Given the description of an element on the screen output the (x, y) to click on. 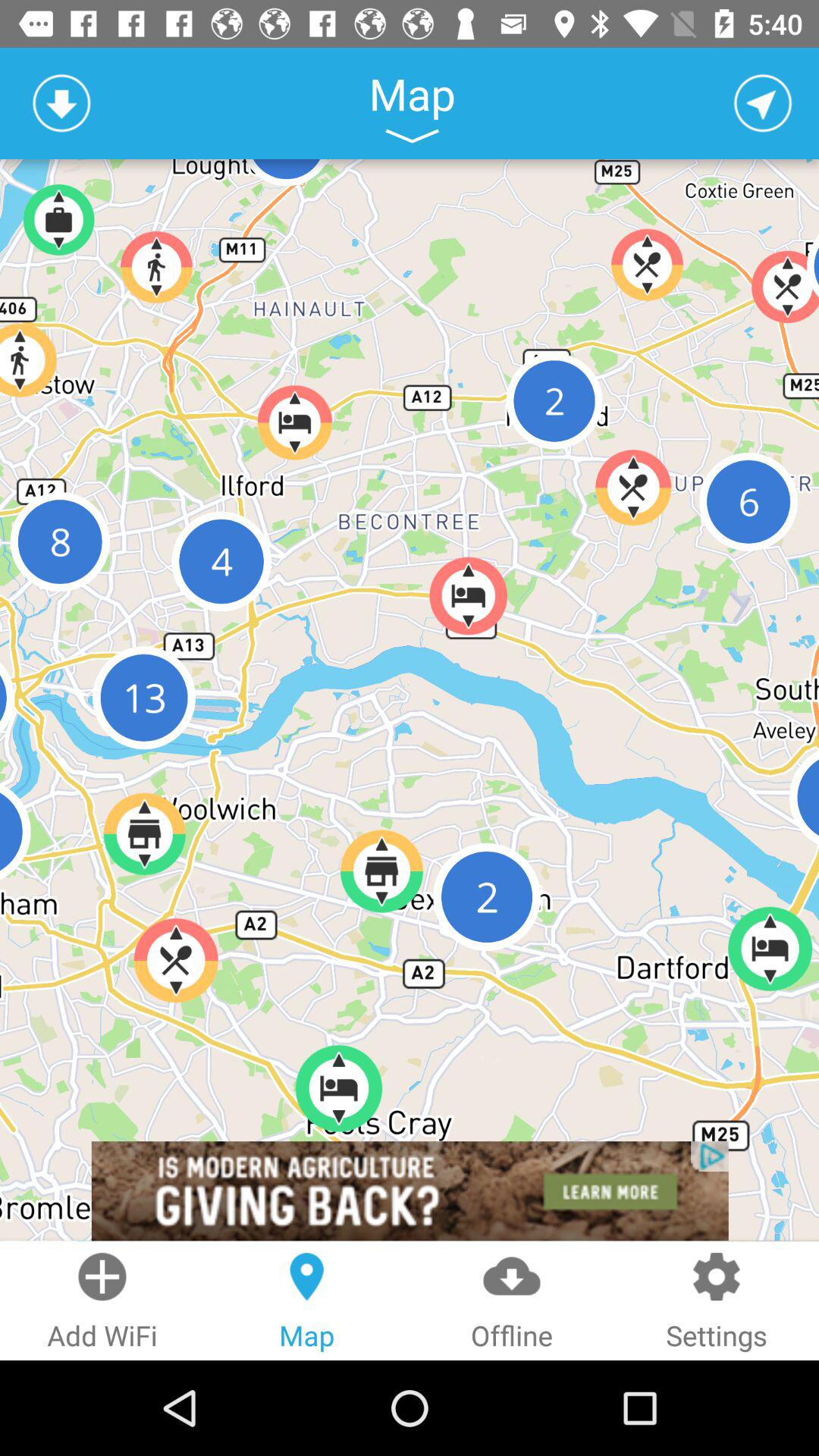
advertisement banner (409, 1191)
